Given the description of an element on the screen output the (x, y) to click on. 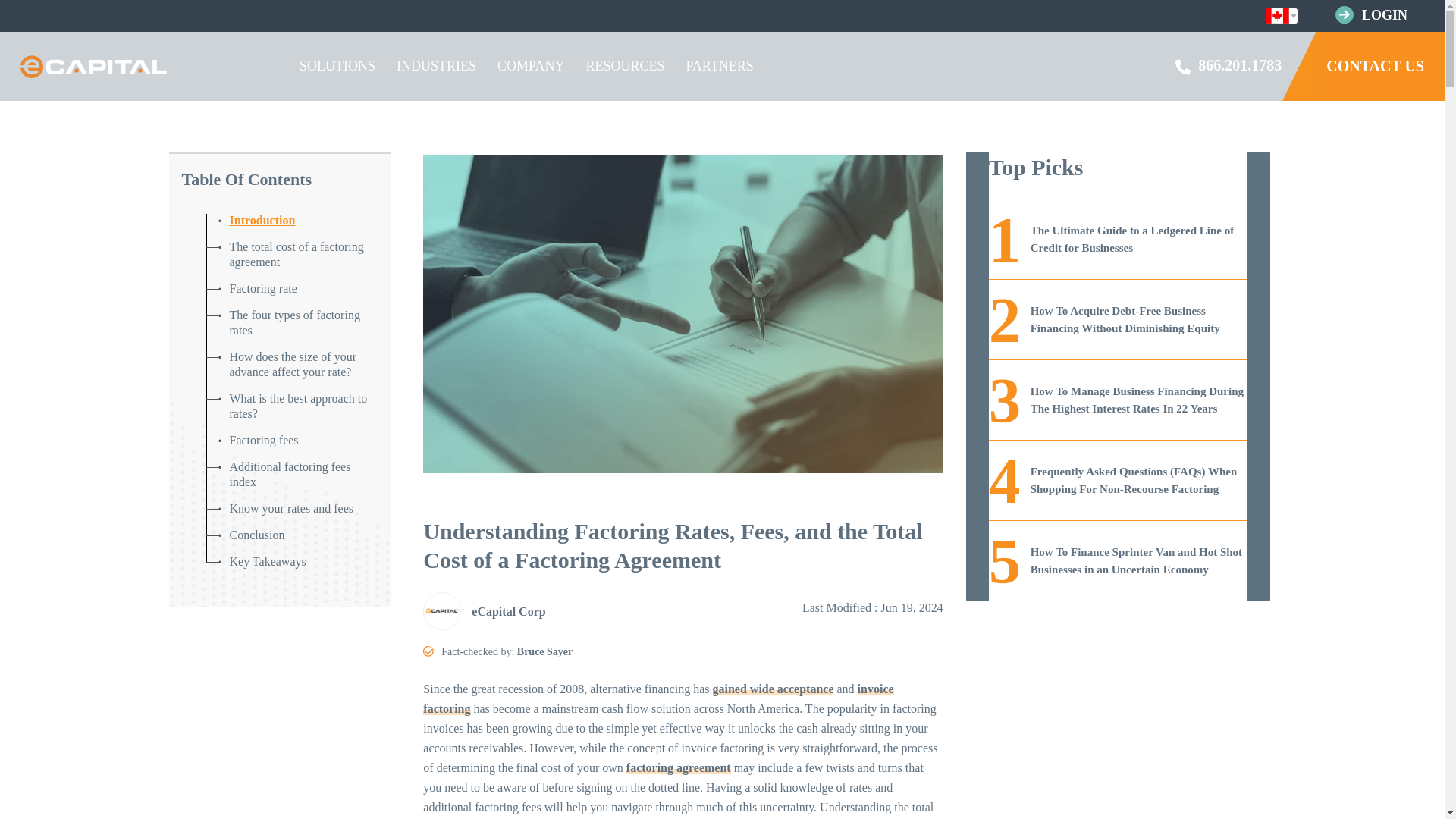
SOLUTIONS (337, 65)
LOGIN (1384, 14)
INDUSTRIES (436, 65)
